Given the description of an element on the screen output the (x, y) to click on. 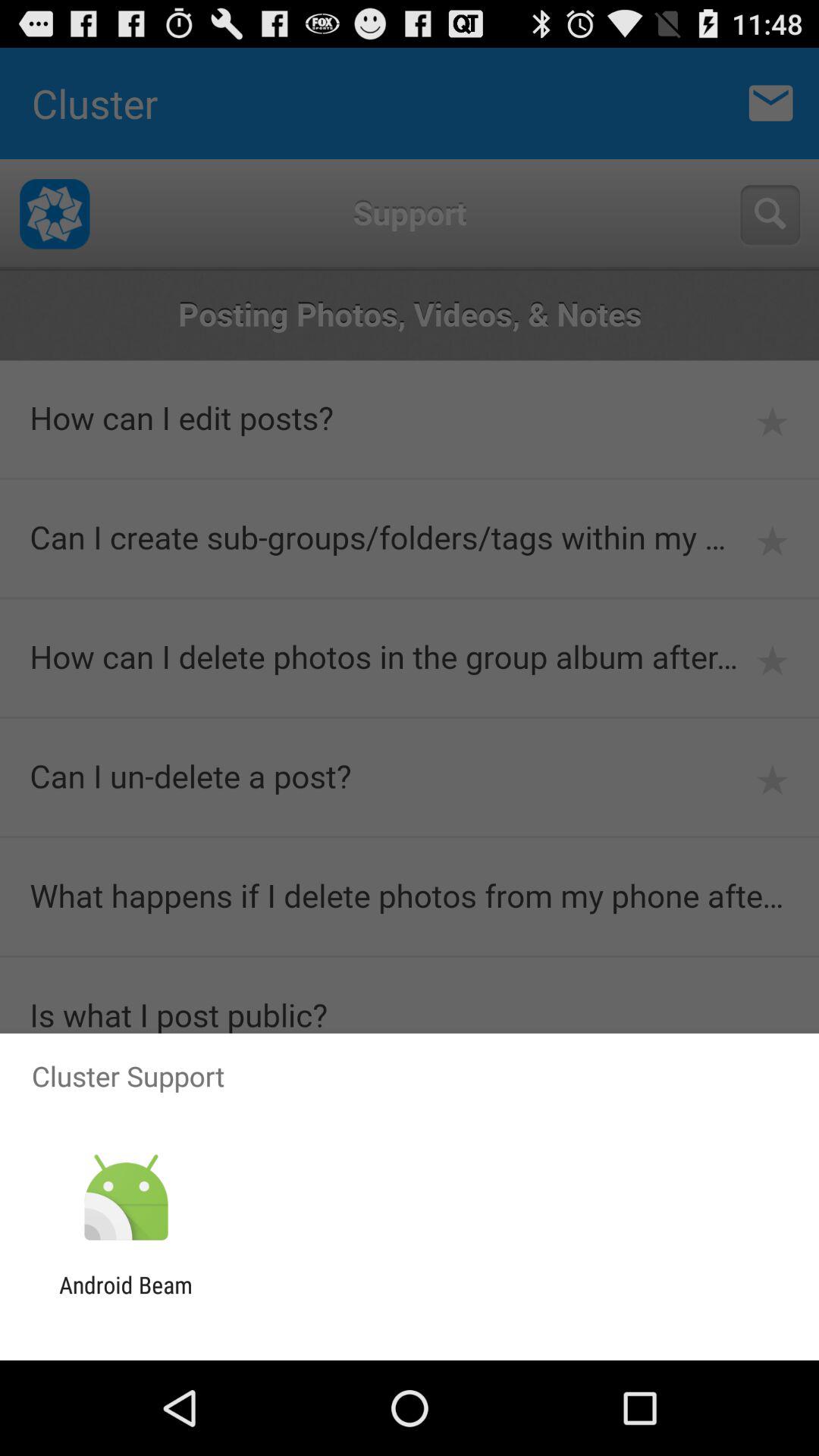
turn on the android beam (125, 1298)
